Given the description of an element on the screen output the (x, y) to click on. 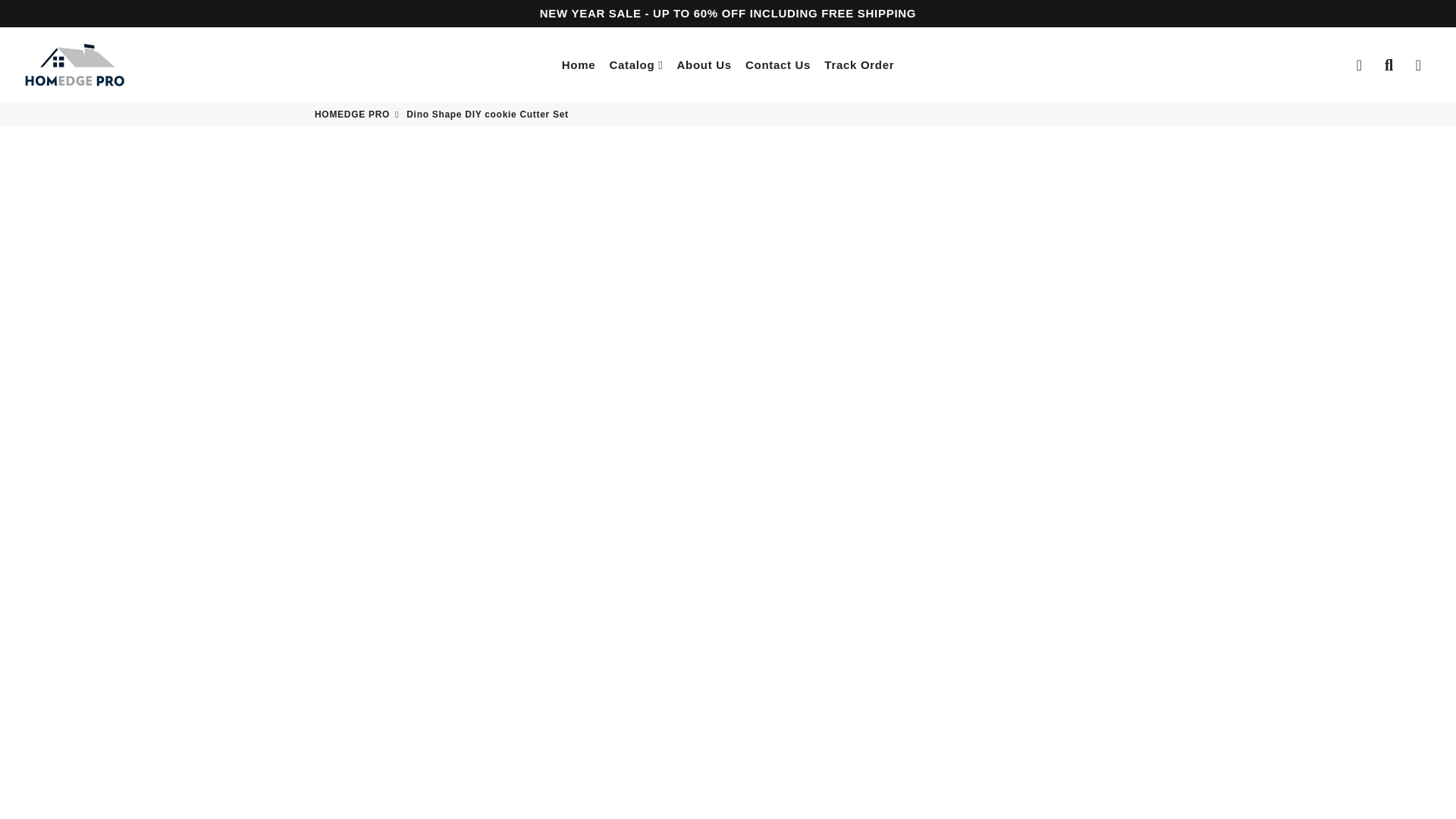
HOMEDGE PRO (74, 64)
Home (577, 65)
Contact Us (777, 65)
Catalog (636, 65)
About Us (703, 65)
